Given the description of an element on the screen output the (x, y) to click on. 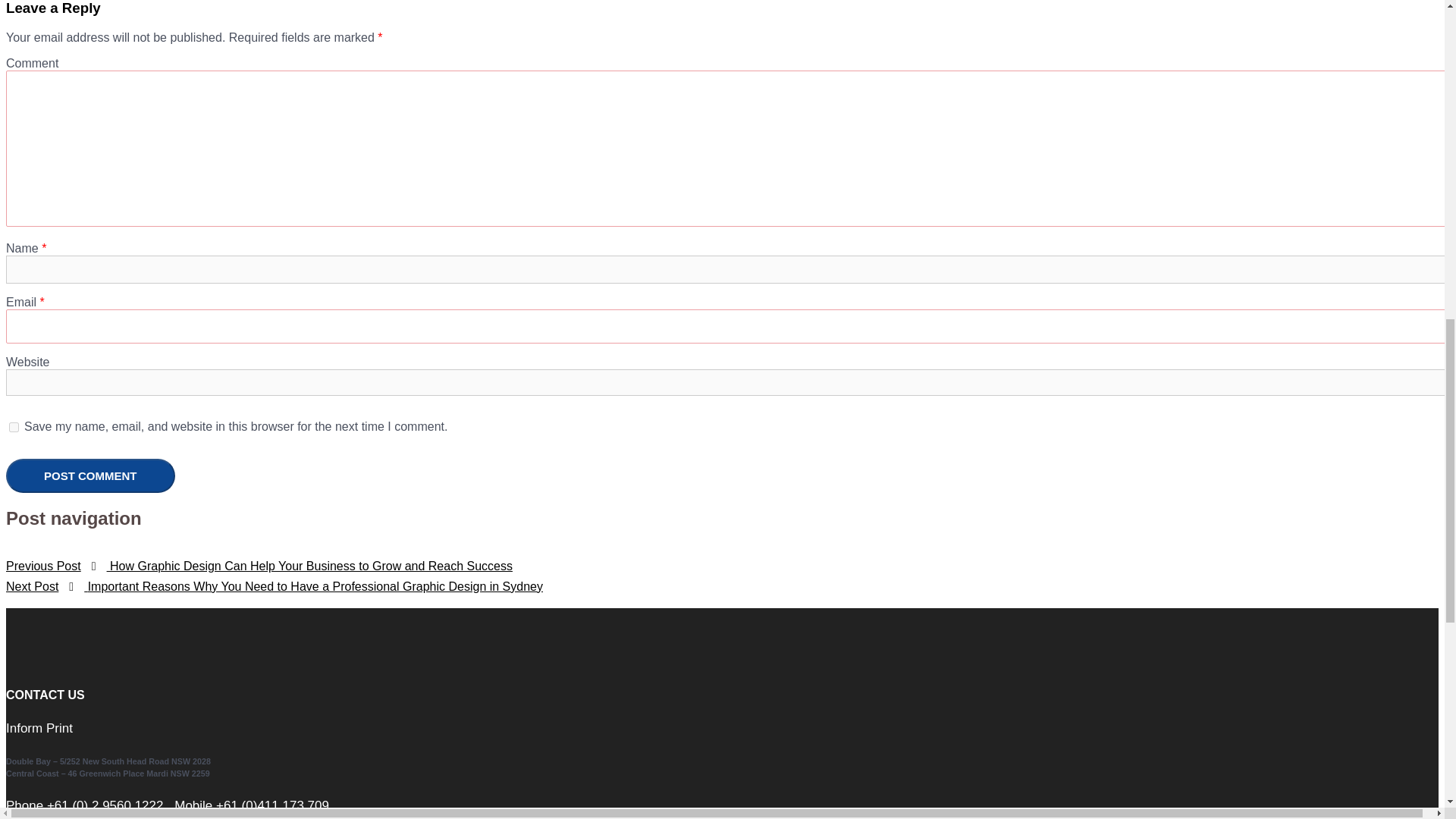
yes (13, 427)
Post Comment (89, 475)
Post Comment (89, 475)
